Given the description of an element on the screen output the (x, y) to click on. 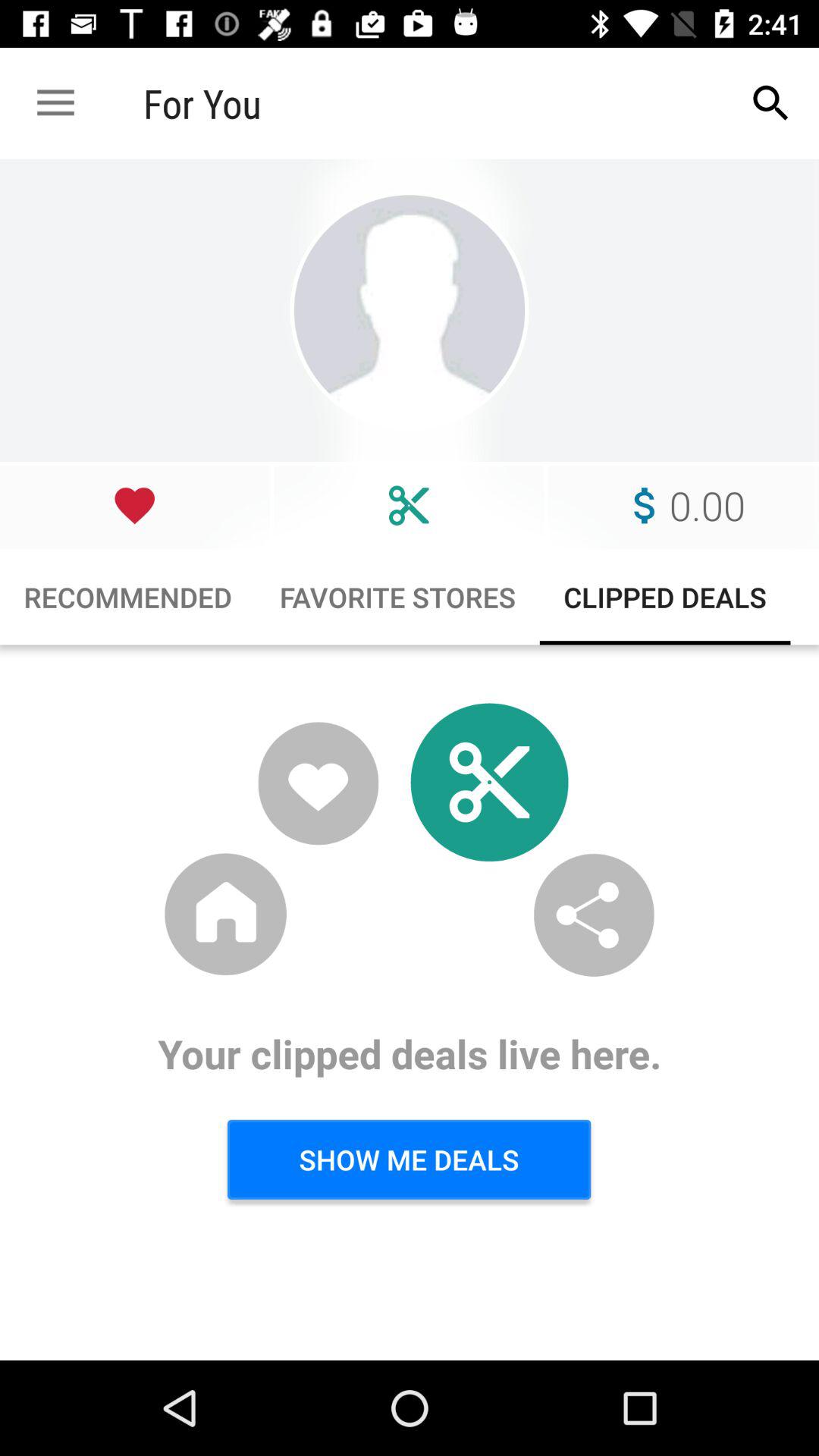
turn off the app to the left of for you icon (55, 103)
